Given the description of an element on the screen output the (x, y) to click on. 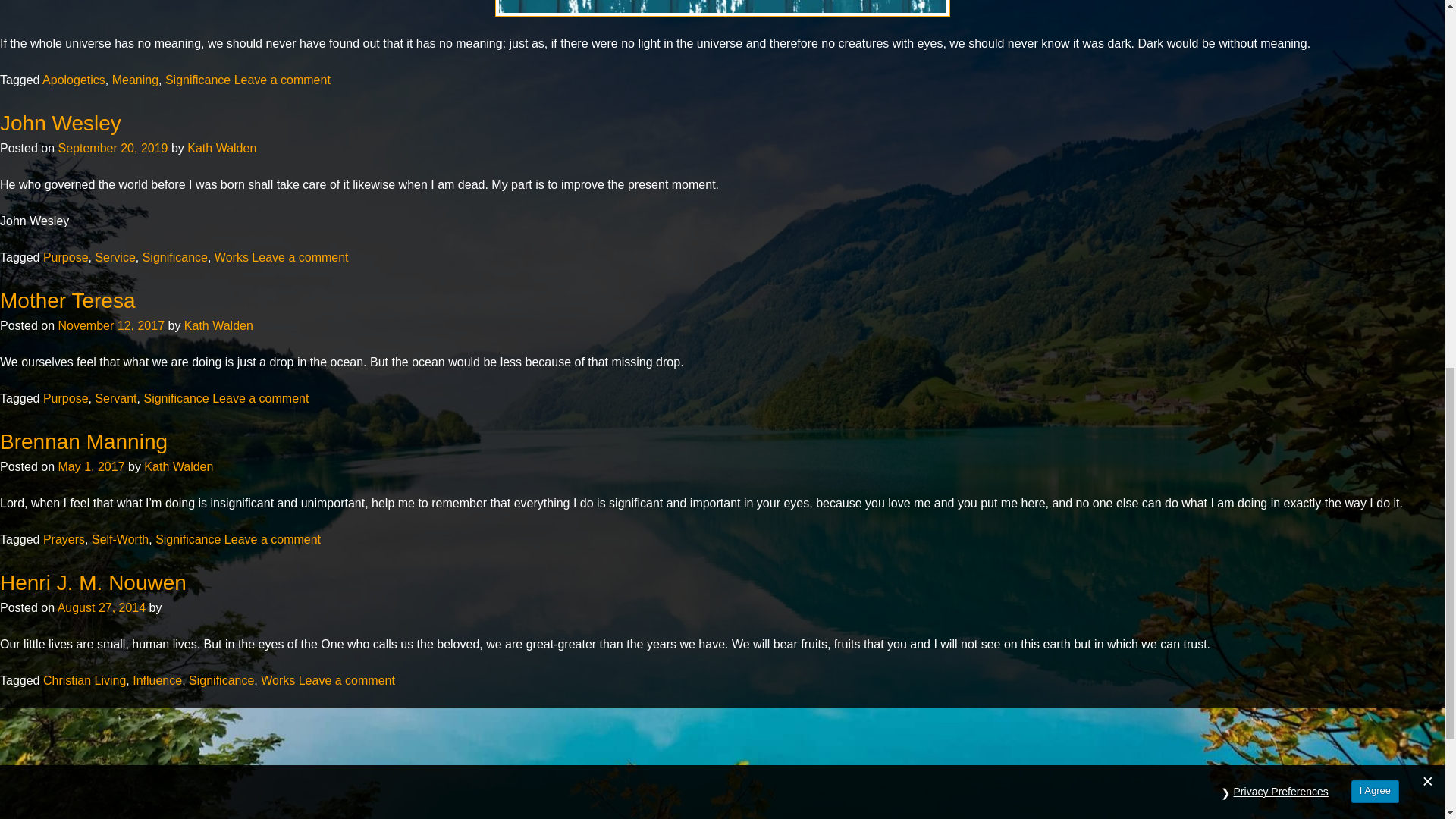
Meaning (135, 79)
Purpose (65, 256)
August 27, 2014 (102, 607)
Apologetics (73, 79)
Brennan Manning (83, 441)
Mother Teresa (67, 300)
Kath Walden (218, 325)
November 12, 2017 (111, 325)
Significance (175, 398)
Works (231, 256)
Kath Walden (221, 147)
May 1, 2017 (90, 466)
Henri J. M. Nouwen (93, 582)
Purpose (65, 398)
Leave a comment (299, 256)
